Given the description of an element on the screen output the (x, y) to click on. 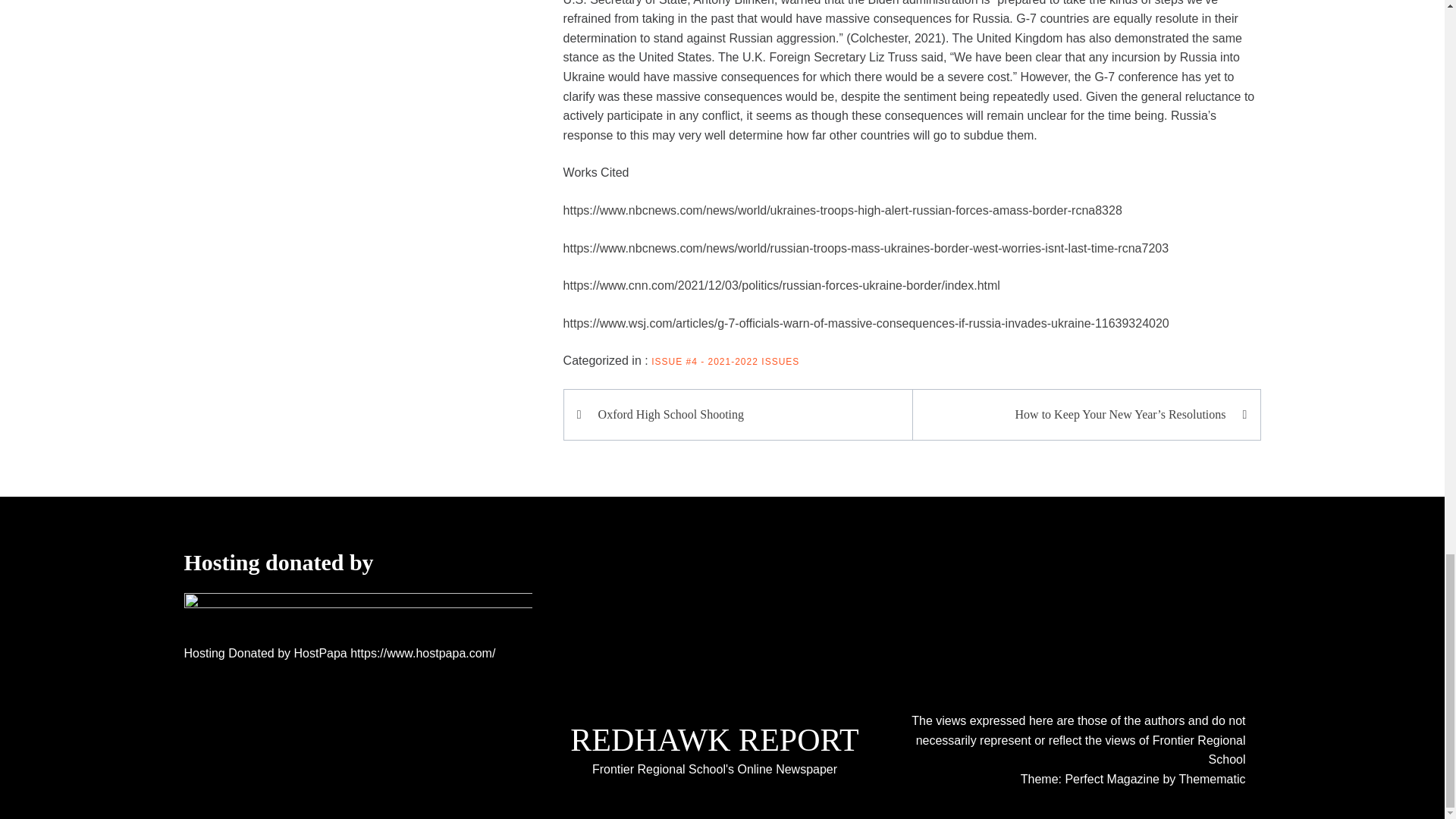
Oxford High School Shooting (745, 414)
ISSUES (780, 361)
REDHAWK REPORT (714, 739)
